Given the description of an element on the screen output the (x, y) to click on. 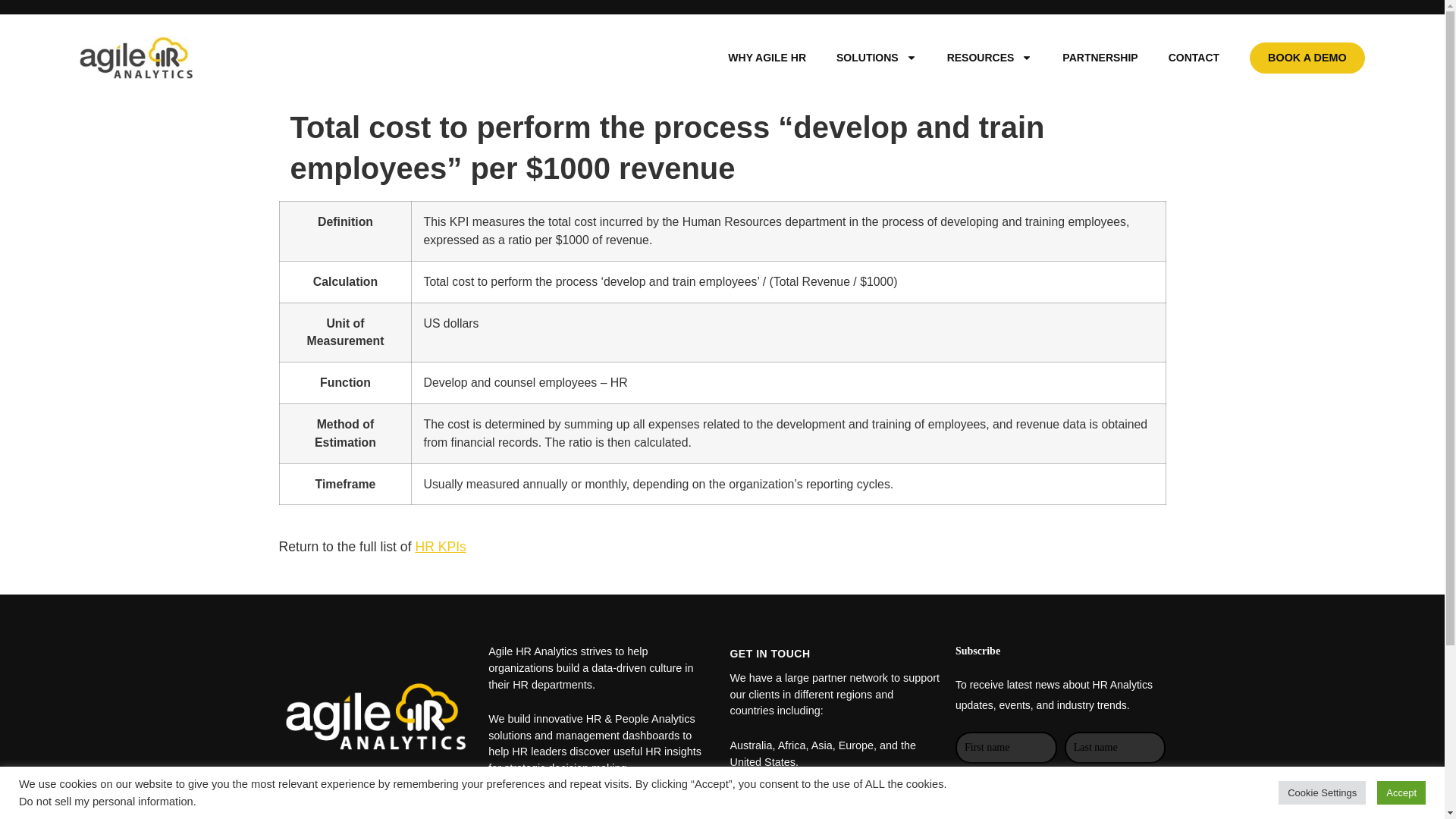
RESOURCES (989, 58)
HR KPIs (439, 546)
BOOK A DEMO (1307, 57)
CONTACT (1193, 58)
SOLUTIONS (876, 58)
PARTNERSHIP (1099, 58)
WHY AGILE HR (767, 58)
